Given the description of an element on the screen output the (x, y) to click on. 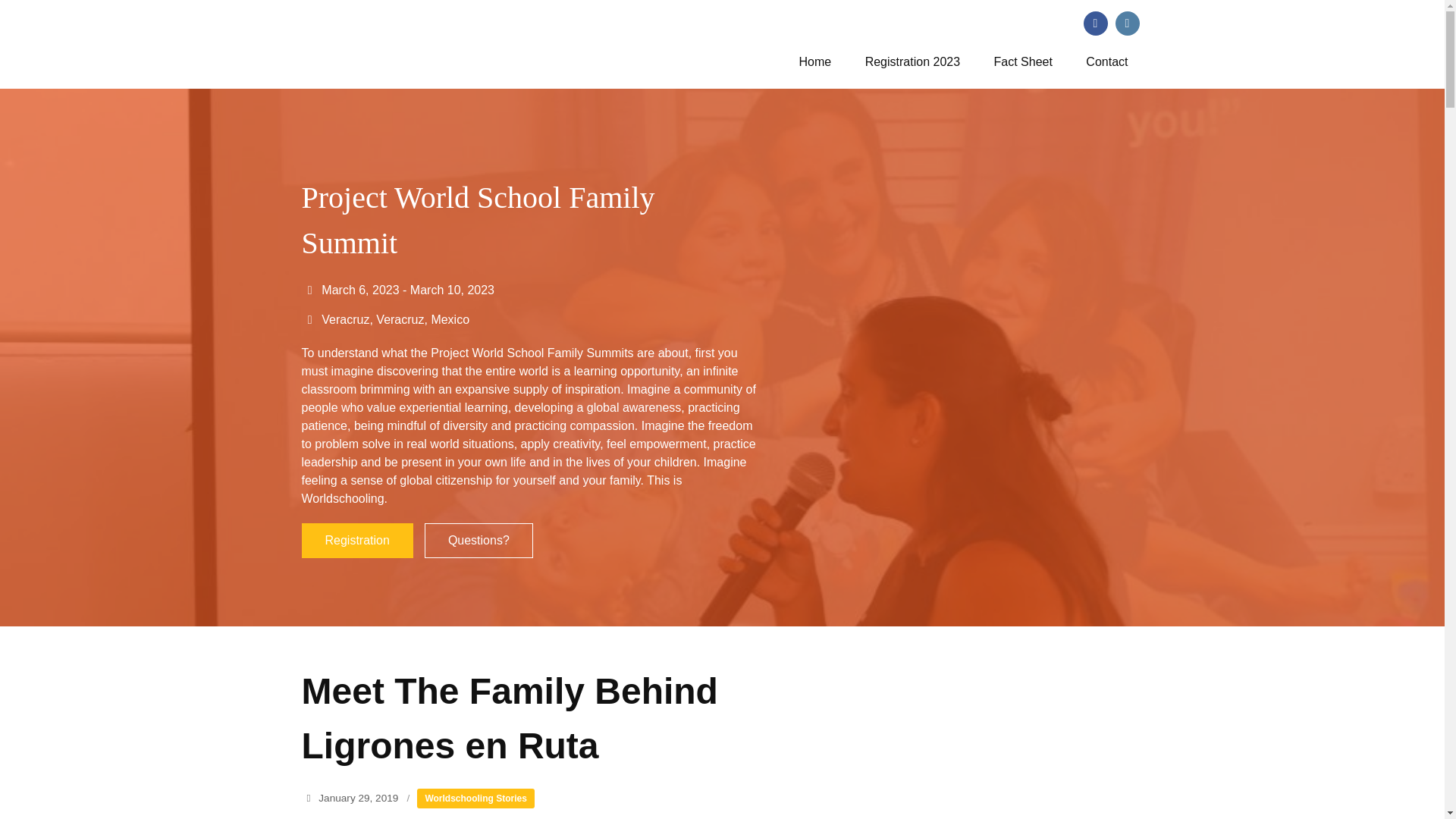
Home (815, 61)
Questions? (478, 540)
Fact Sheet (1022, 61)
January 29, 2019 (357, 797)
Contact (1106, 61)
Registration 2023 (912, 61)
Registration (357, 540)
Worldschooling Stories (475, 798)
